Given the description of an element on the screen output the (x, y) to click on. 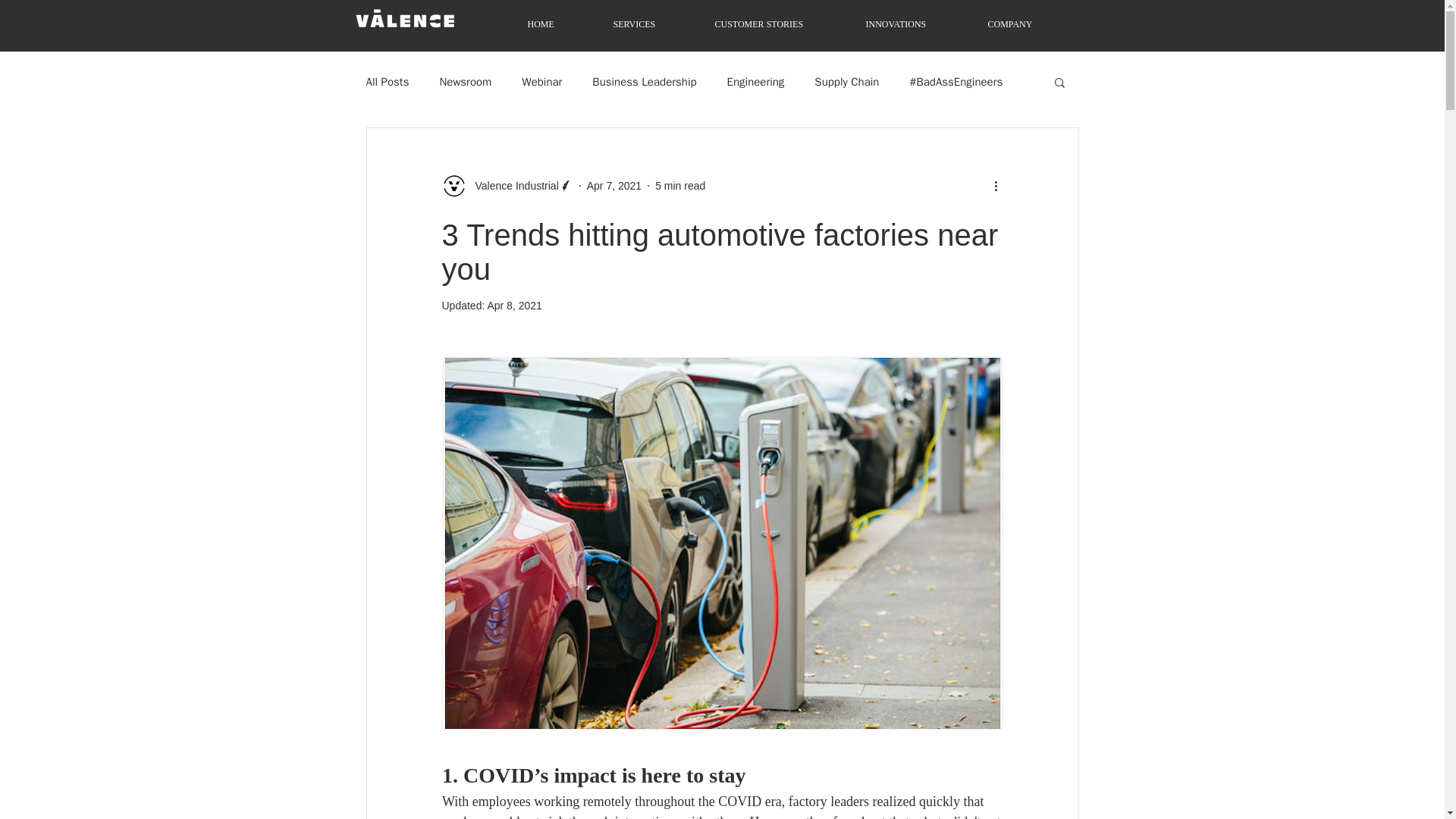
Newsroom (465, 81)
CUSTOMER STORIES (780, 24)
5 min read (679, 184)
Apr 7, 2021 (614, 184)
SERVICES (654, 24)
Valence Industrial (511, 185)
HOME (559, 24)
COMPANY (1029, 24)
INNOVATIONS (916, 24)
Supply Chain (846, 81)
